Given the description of an element on the screen output the (x, y) to click on. 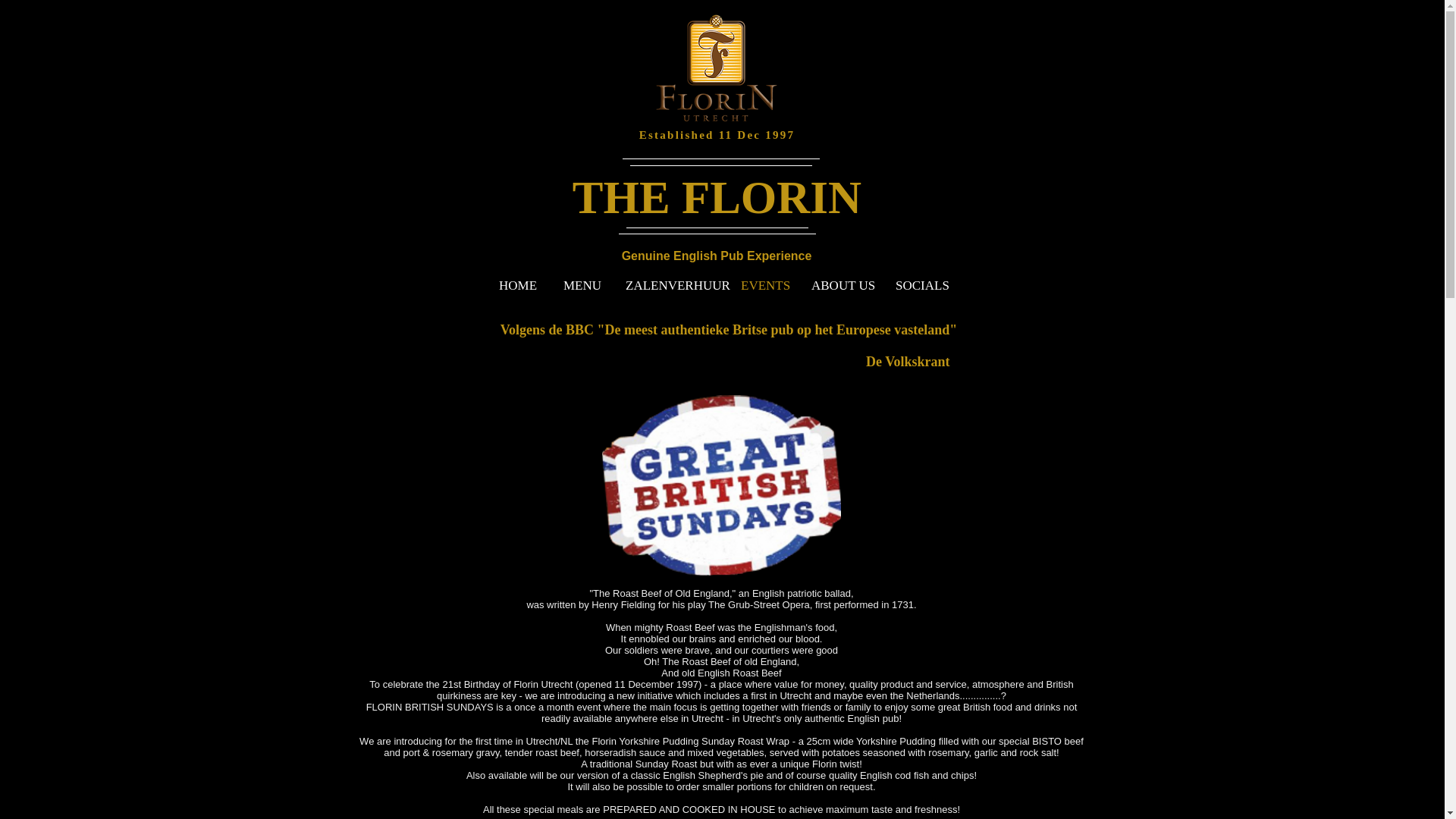
SOCIALS (919, 285)
HOME (515, 285)
ABOUT US (838, 285)
MENU (579, 285)
ZALENVERHUUR (667, 285)
THE FLORIN (716, 196)
EVENTS (760, 285)
